Given the description of an element on the screen output the (x, y) to click on. 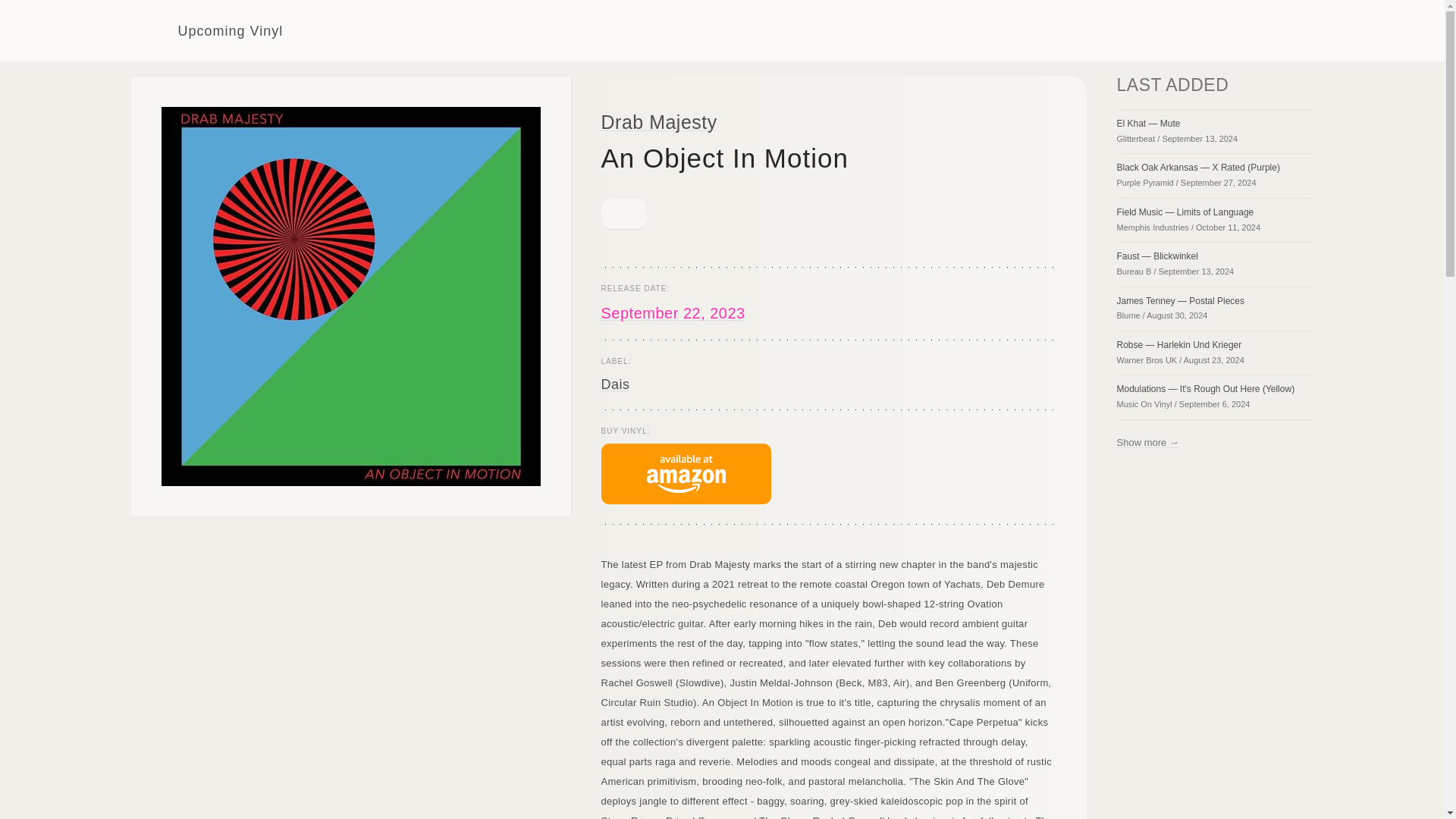
Upcoming Vinyl (206, 30)
September 22, 2023 (671, 312)
Sign in or create account (1199, 30)
Drab Majesty (657, 121)
Dais (613, 383)
Add to favourites (622, 214)
